Given the description of an element on the screen output the (x, y) to click on. 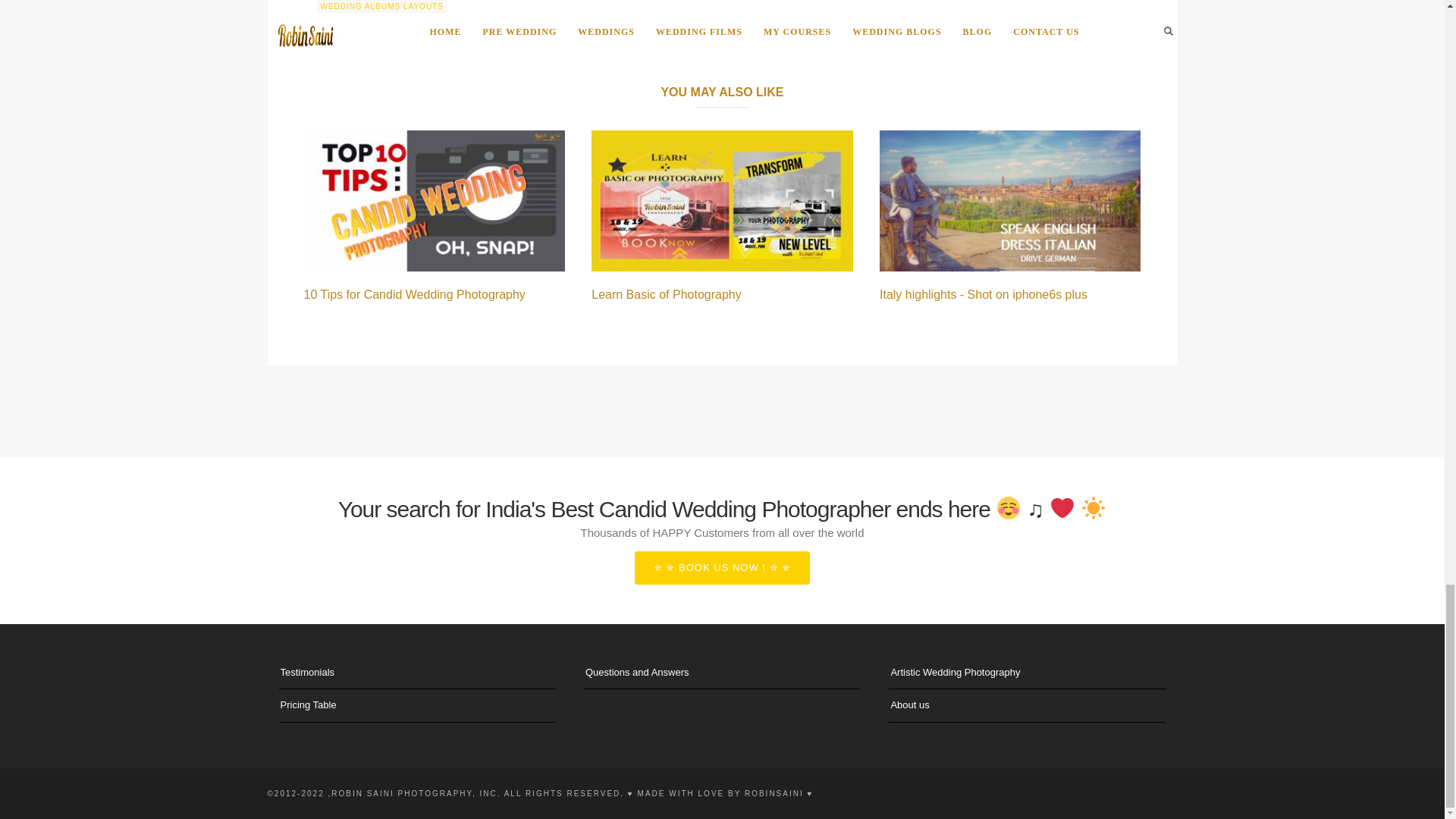
Italy highlights - Shot on iphone6s plus (983, 294)
WEDDING ALBUMS LAYOUTS (381, 6)
10 Tips for Candid Wedding Photography (413, 294)
Learn Basic of Photography (666, 294)
